Given the description of an element on the screen output the (x, y) to click on. 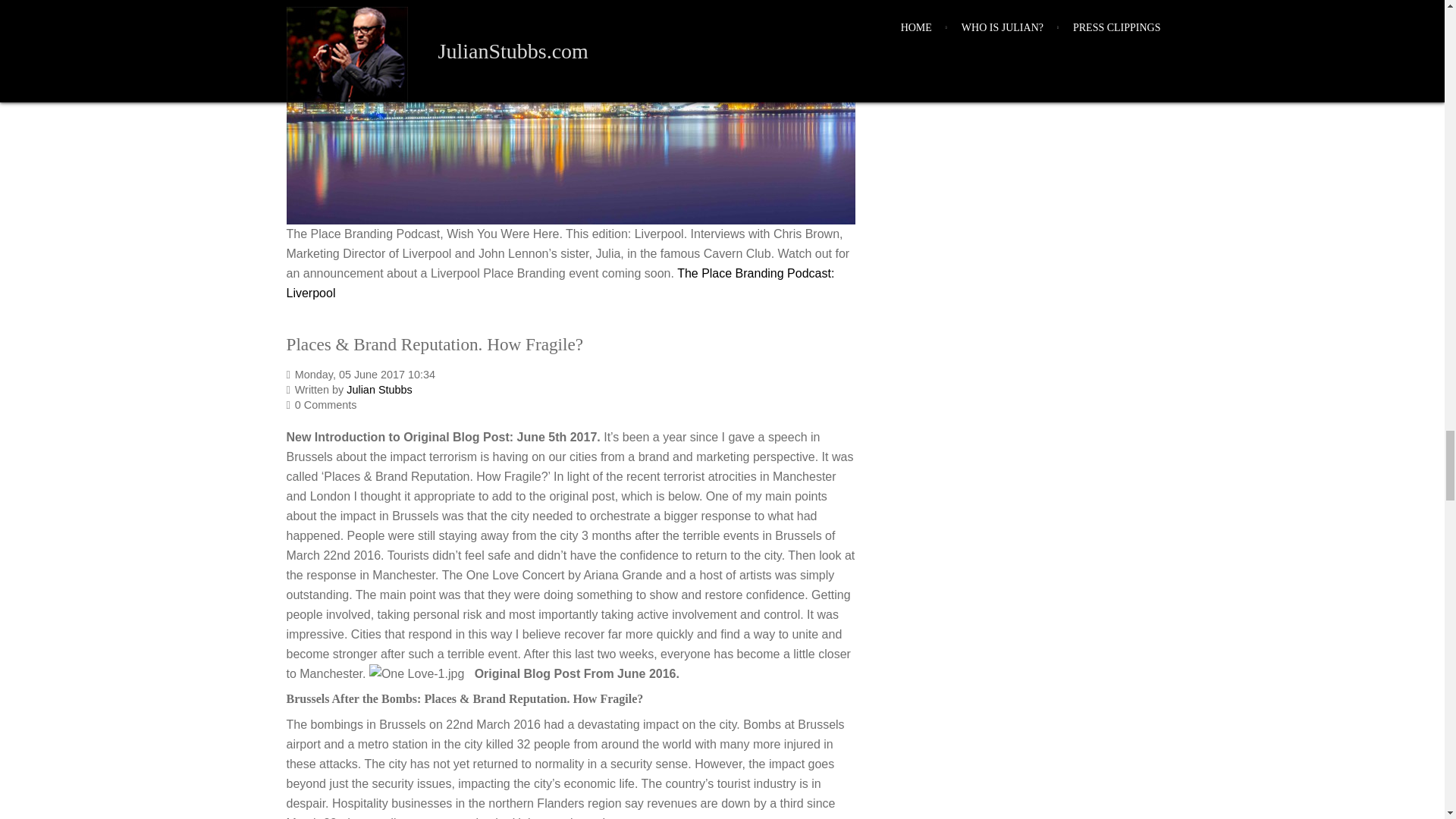
Posts by Julian Stubbs (379, 389)
Julian Stubbs (379, 389)
The Place Branding Podcast: Liverpool (560, 282)
